Given the description of an element on the screen output the (x, y) to click on. 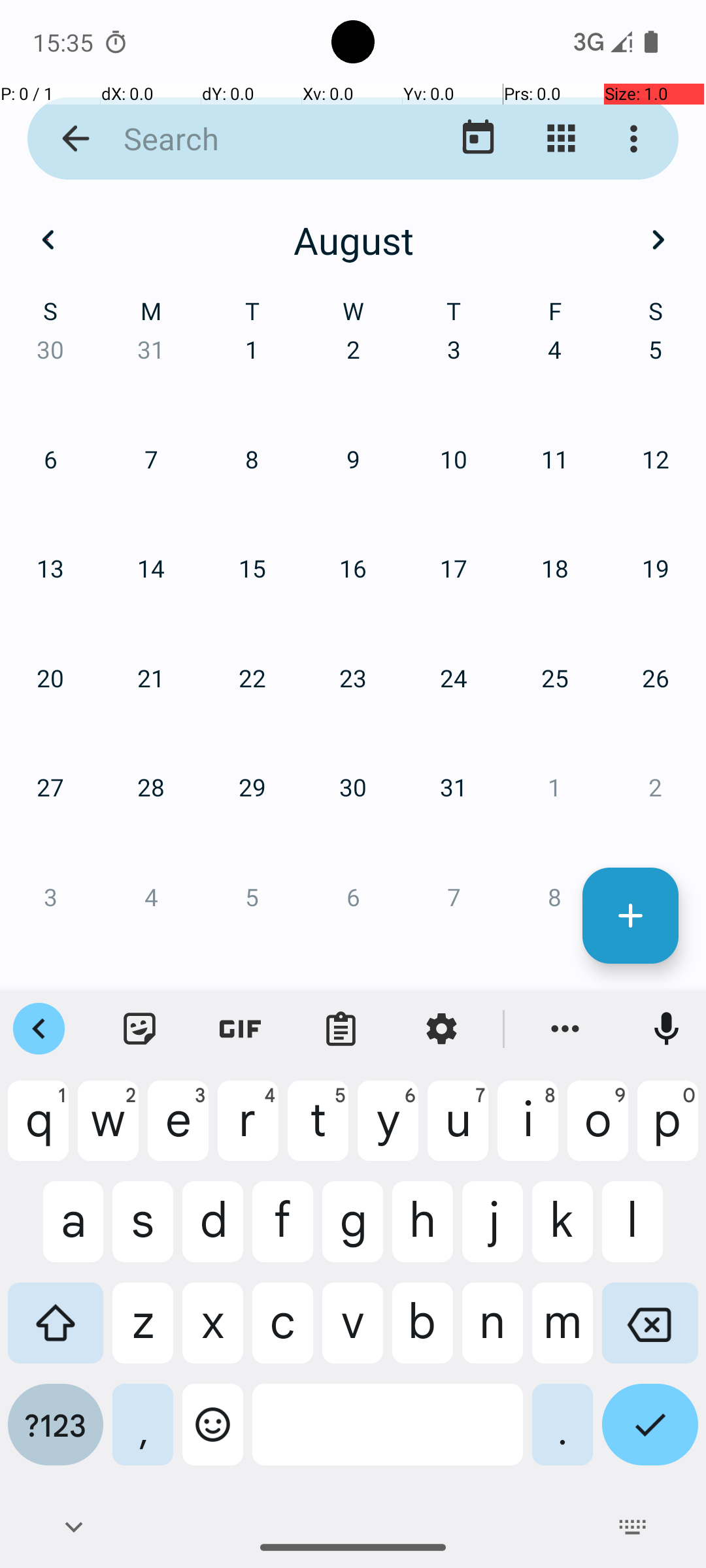
August Element type: android.widget.TextView (352, 239)
